Given the description of an element on the screen output the (x, y) to click on. 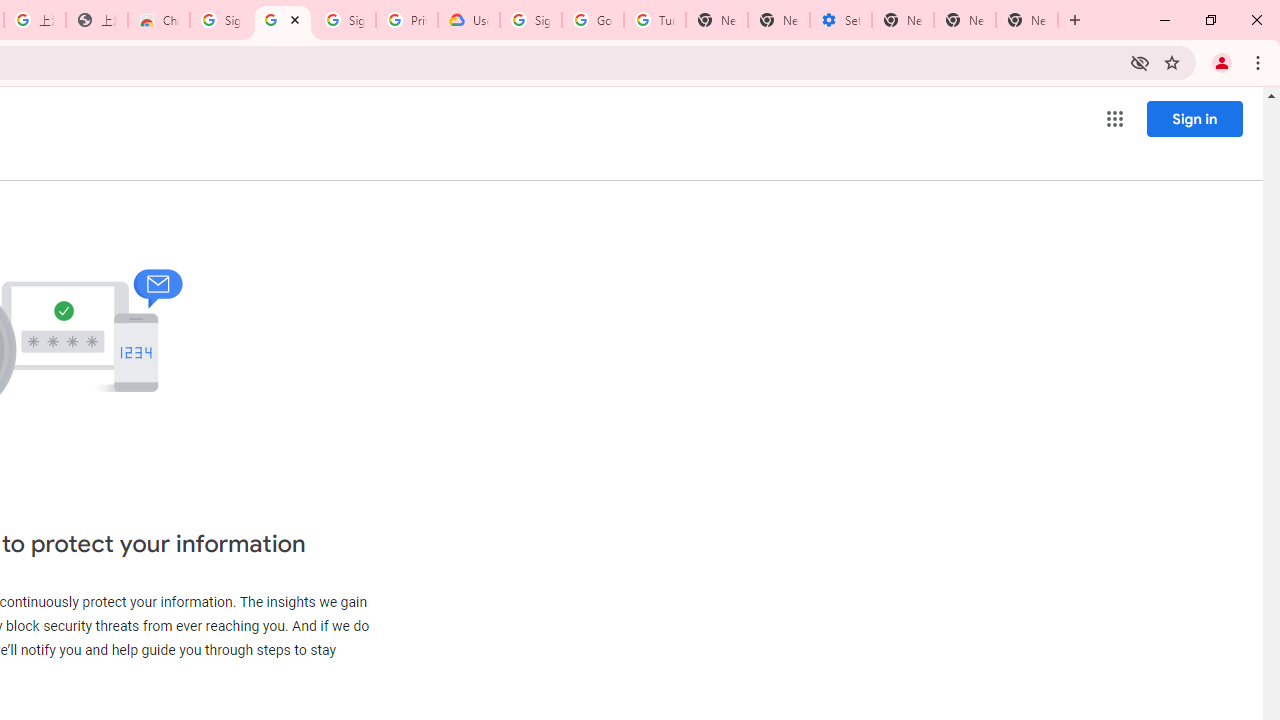
New Tab (1026, 20)
Settings - System (840, 20)
